Given the description of an element on the screen output the (x, y) to click on. 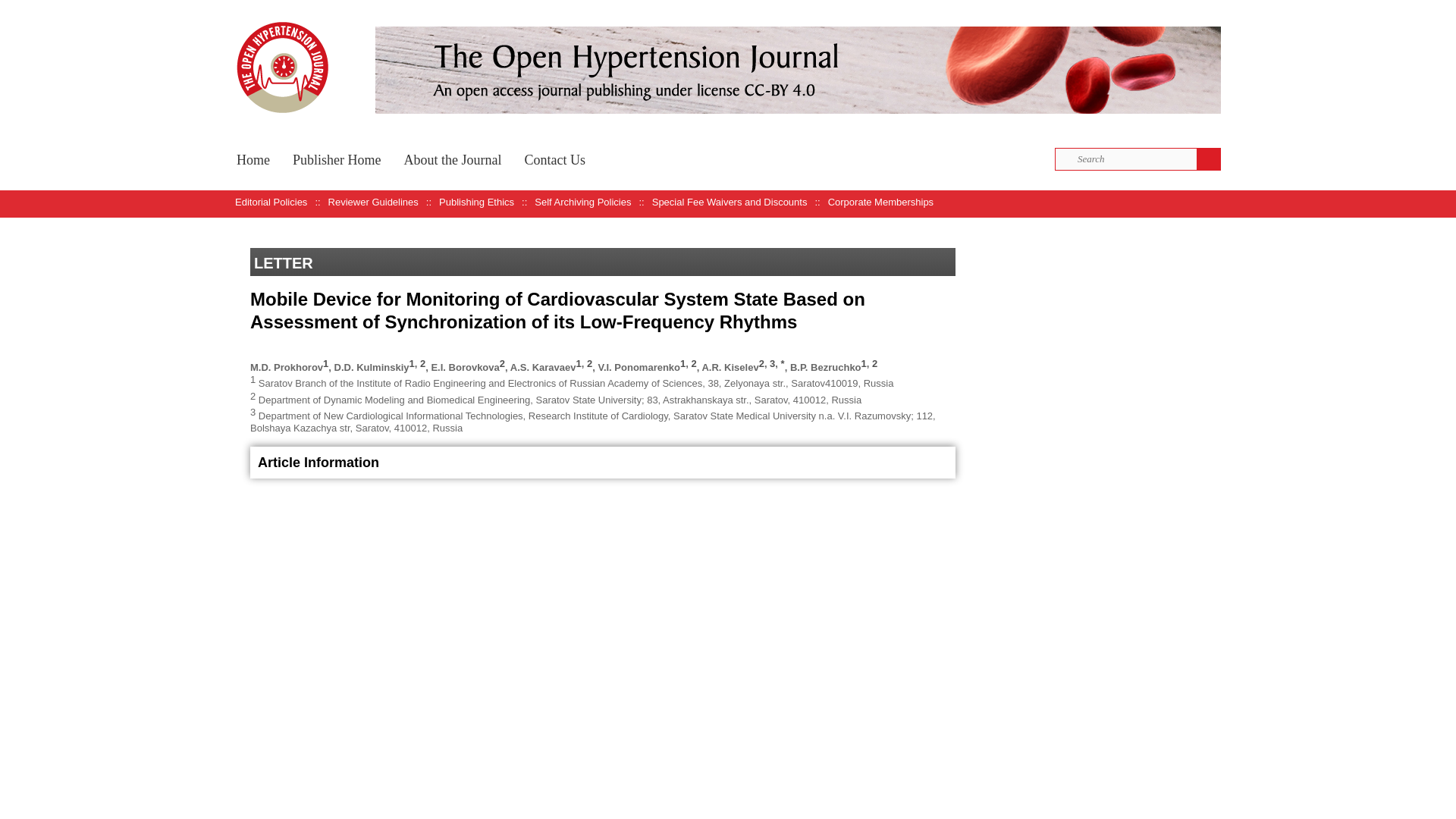
Publisher Home (336, 157)
Corporate Memberships (880, 202)
Special Fee Waivers and Discounts (730, 202)
Contact Us (554, 157)
Publishing Ethics (476, 202)
Self Archiving Policies (582, 202)
About the Journal (451, 157)
Editorial Policies (270, 202)
Reviewer Guidelines (374, 202)
